Given the description of an element on the screen output the (x, y) to click on. 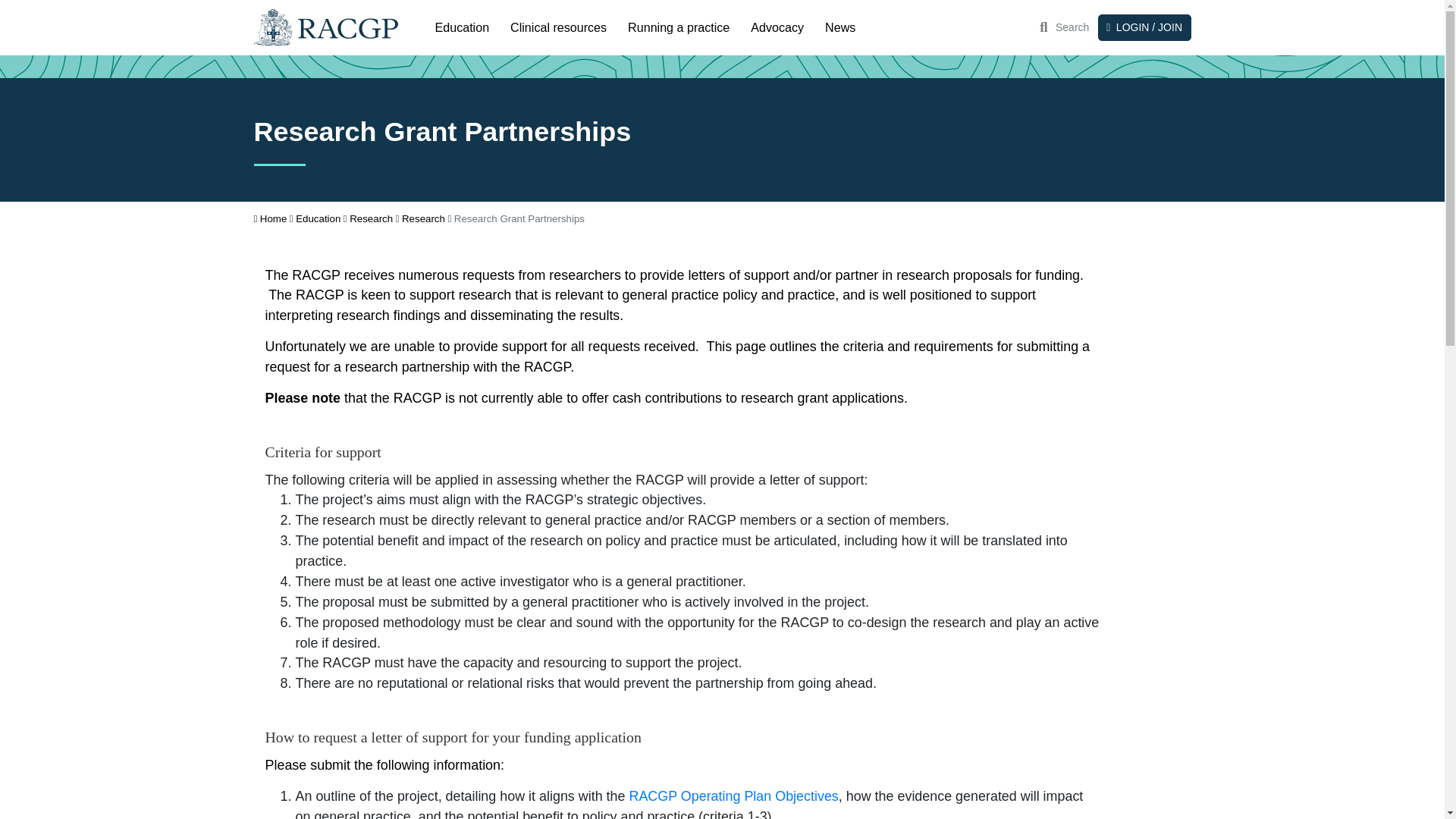
Research (423, 218)
Research (371, 218)
RACGP Logo (325, 26)
Education (462, 27)
Education (317, 218)
